Given the description of an element on the screen output the (x, y) to click on. 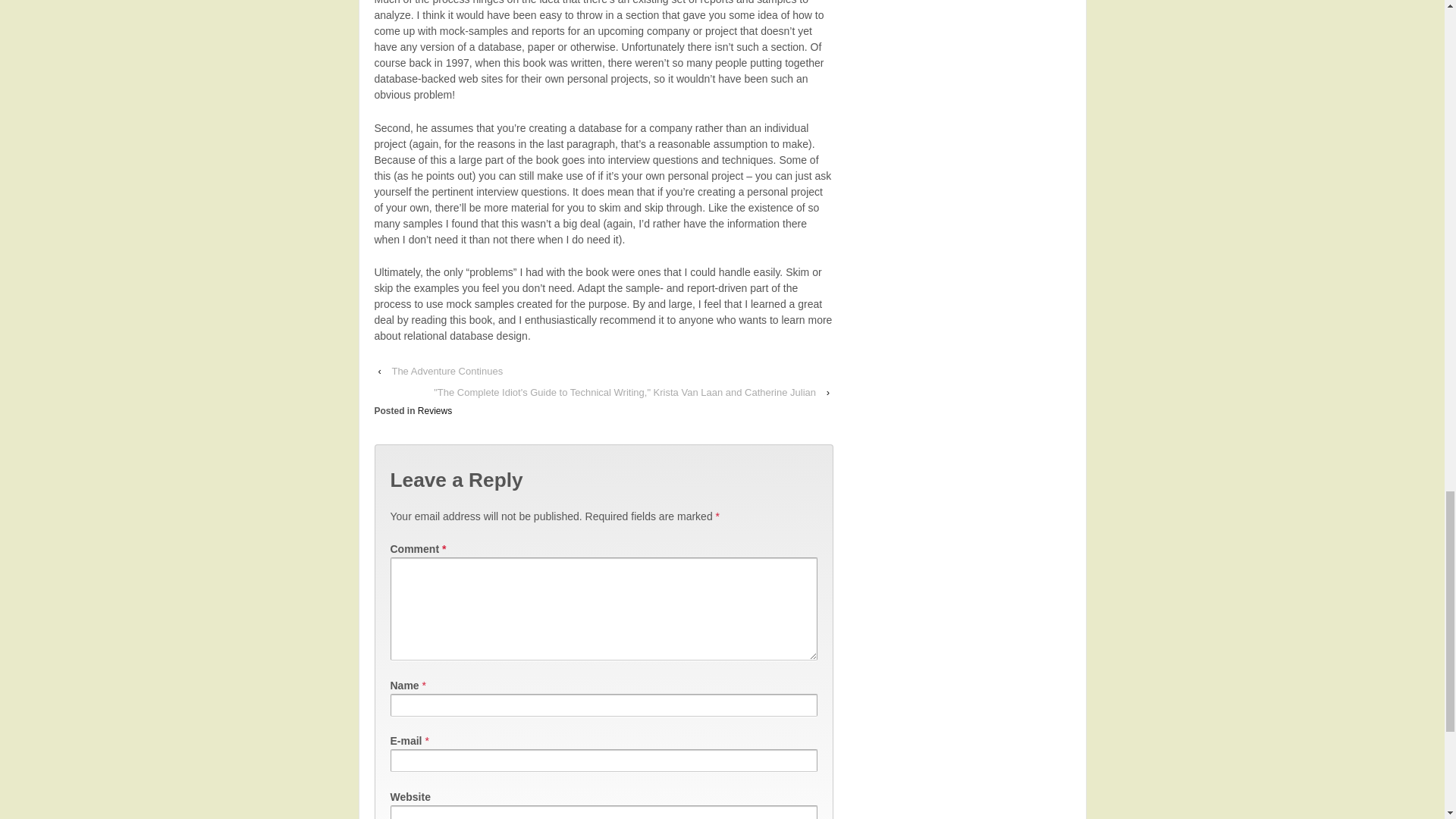
The Adventure Continues (447, 371)
Reviews (434, 410)
